Given the description of an element on the screen output the (x, y) to click on. 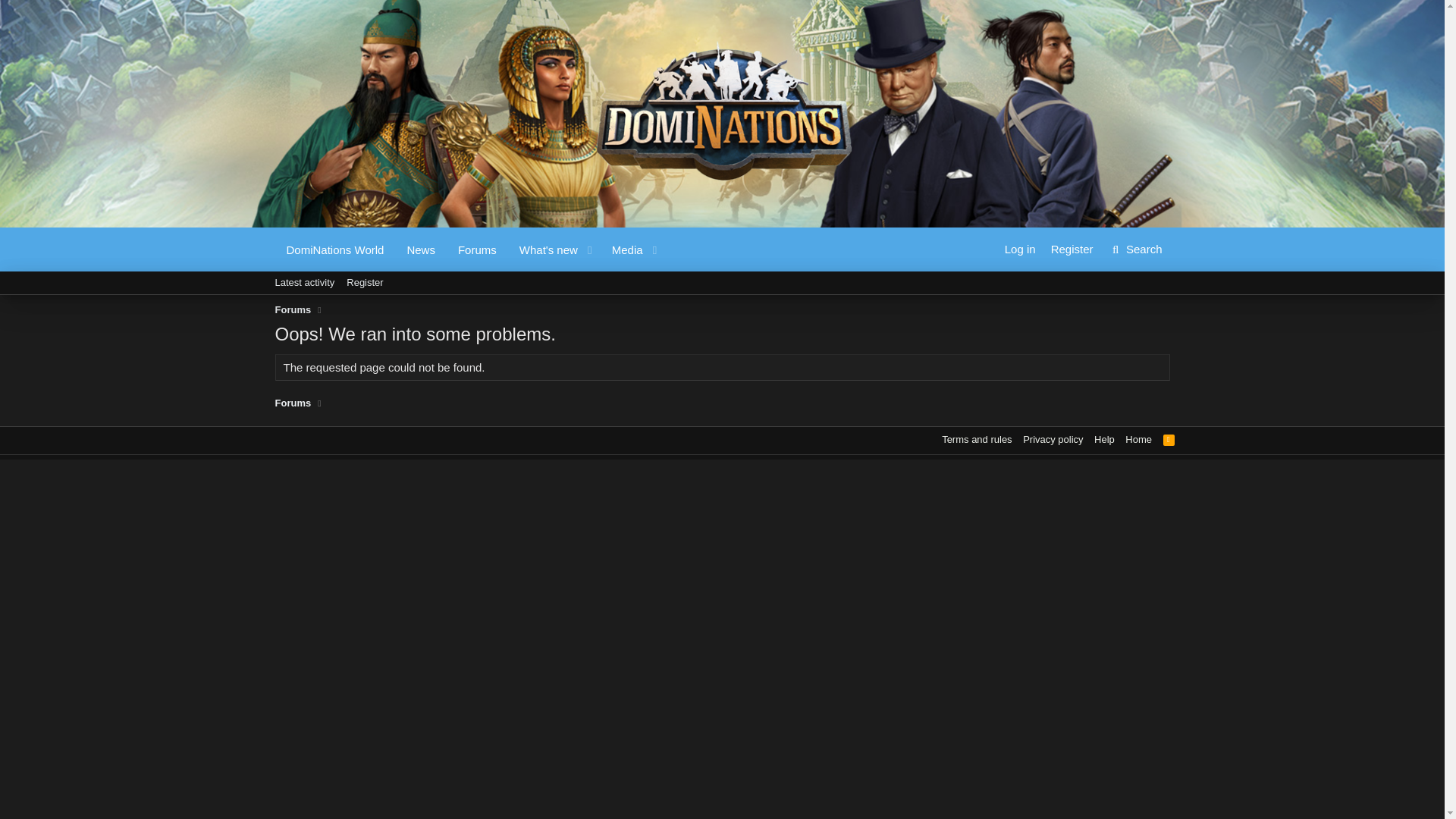
News (420, 249)
Help (1104, 439)
Home (1138, 439)
Latest activity (720, 299)
Forums (303, 282)
Log in (293, 403)
Register (1020, 249)
RSS (364, 282)
Forums (1168, 439)
